Given the description of an element on the screen output the (x, y) to click on. 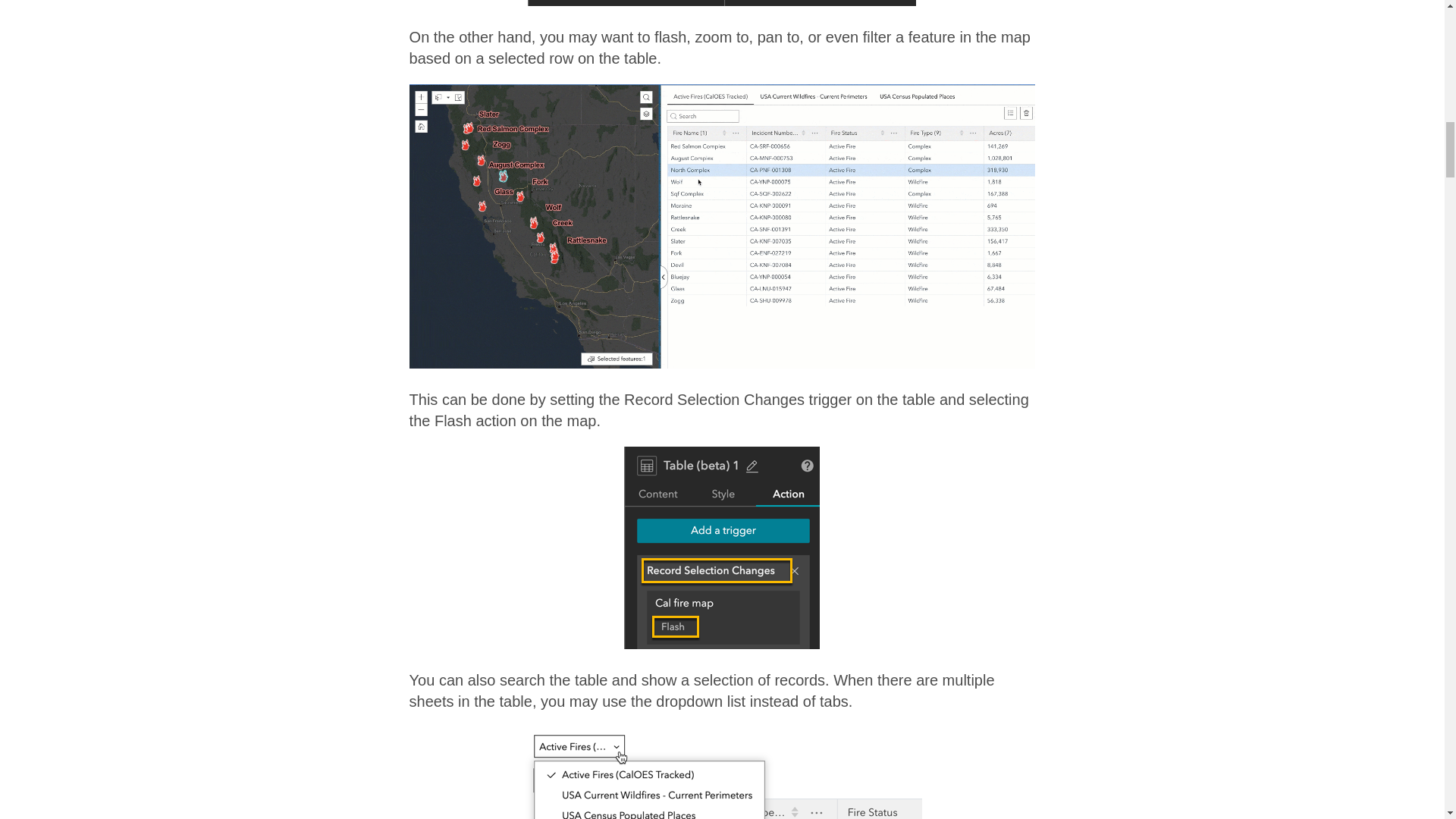
Set a trigger on table (721, 547)
Tab or dropdown arrangement (721, 773)
Actions to filter table (721, 2)
